Given the description of an element on the screen output the (x, y) to click on. 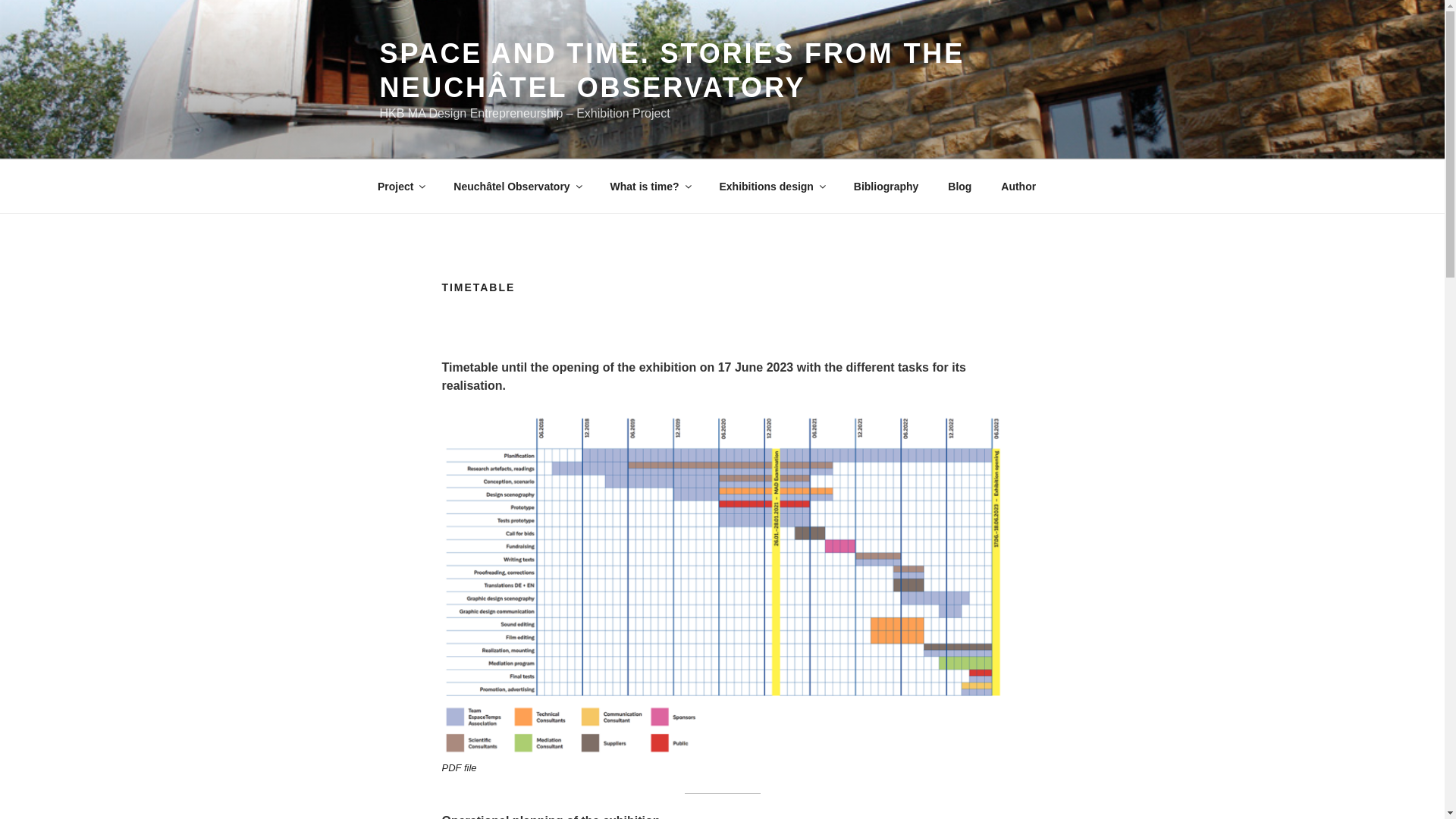
What is time? (649, 186)
Project (400, 186)
